Given the description of an element on the screen output the (x, y) to click on. 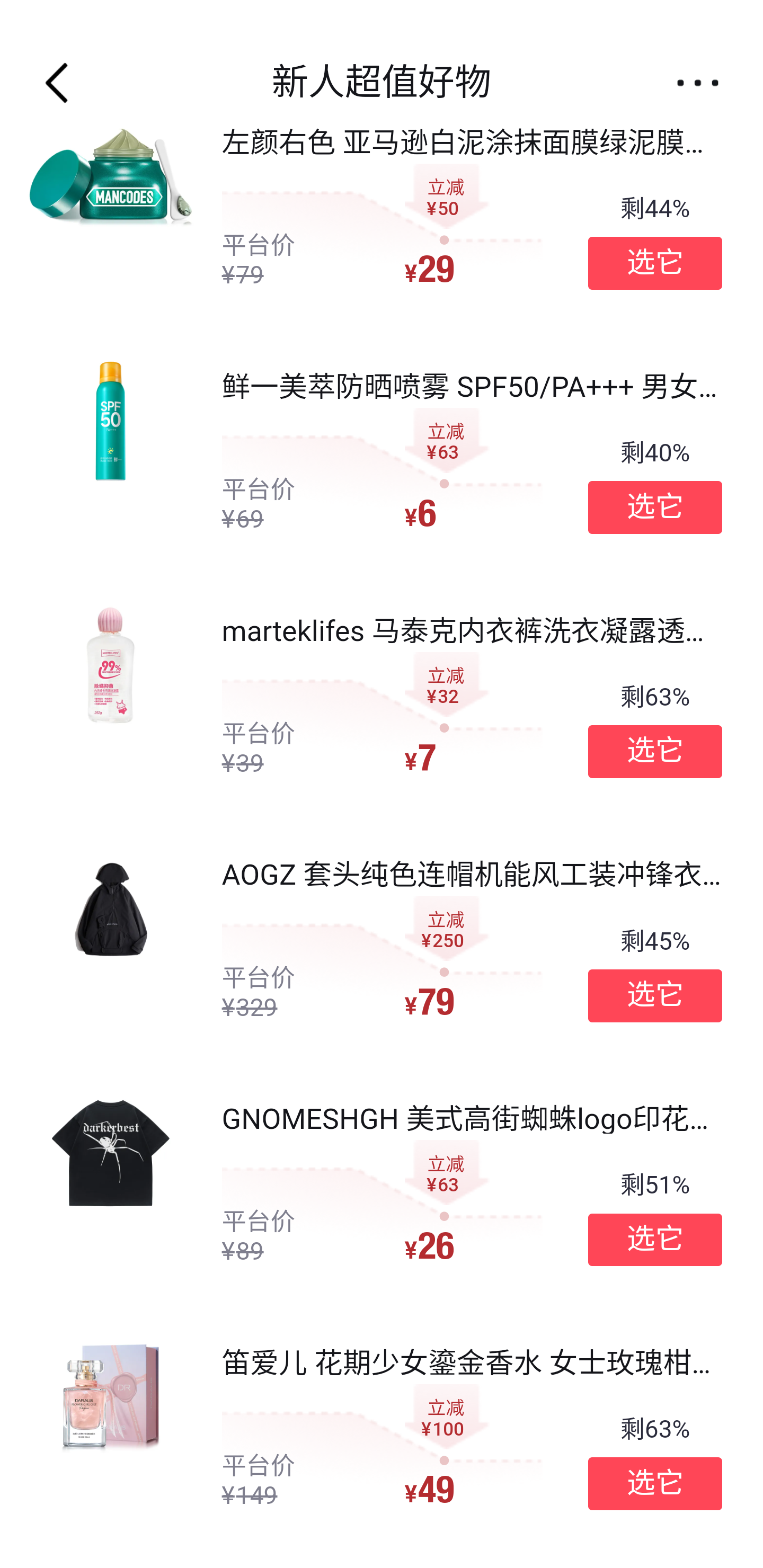
选它 (654, 263)
选它 (654, 506)
选它 (654, 751)
选它 (654, 995)
选它 (654, 1239)
选它 (654, 1483)
